Given the description of an element on the screen output the (x, y) to click on. 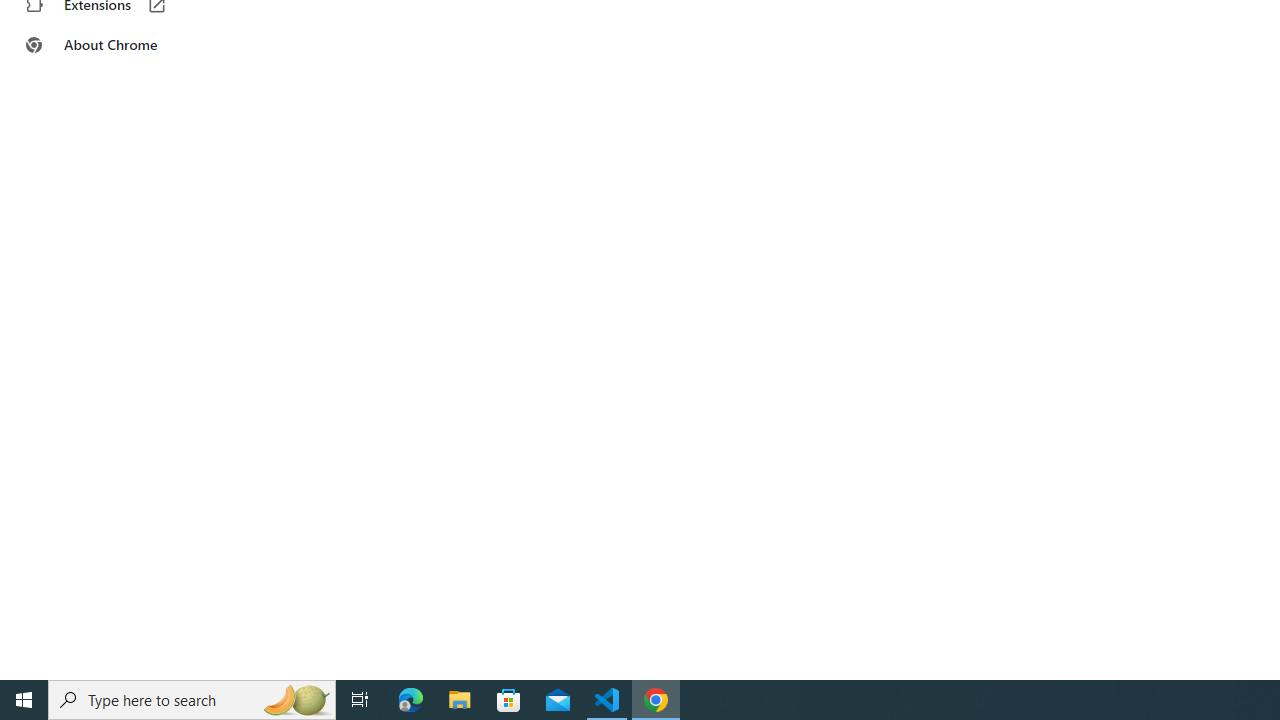
About Chrome (124, 44)
